Given the description of an element on the screen output the (x, y) to click on. 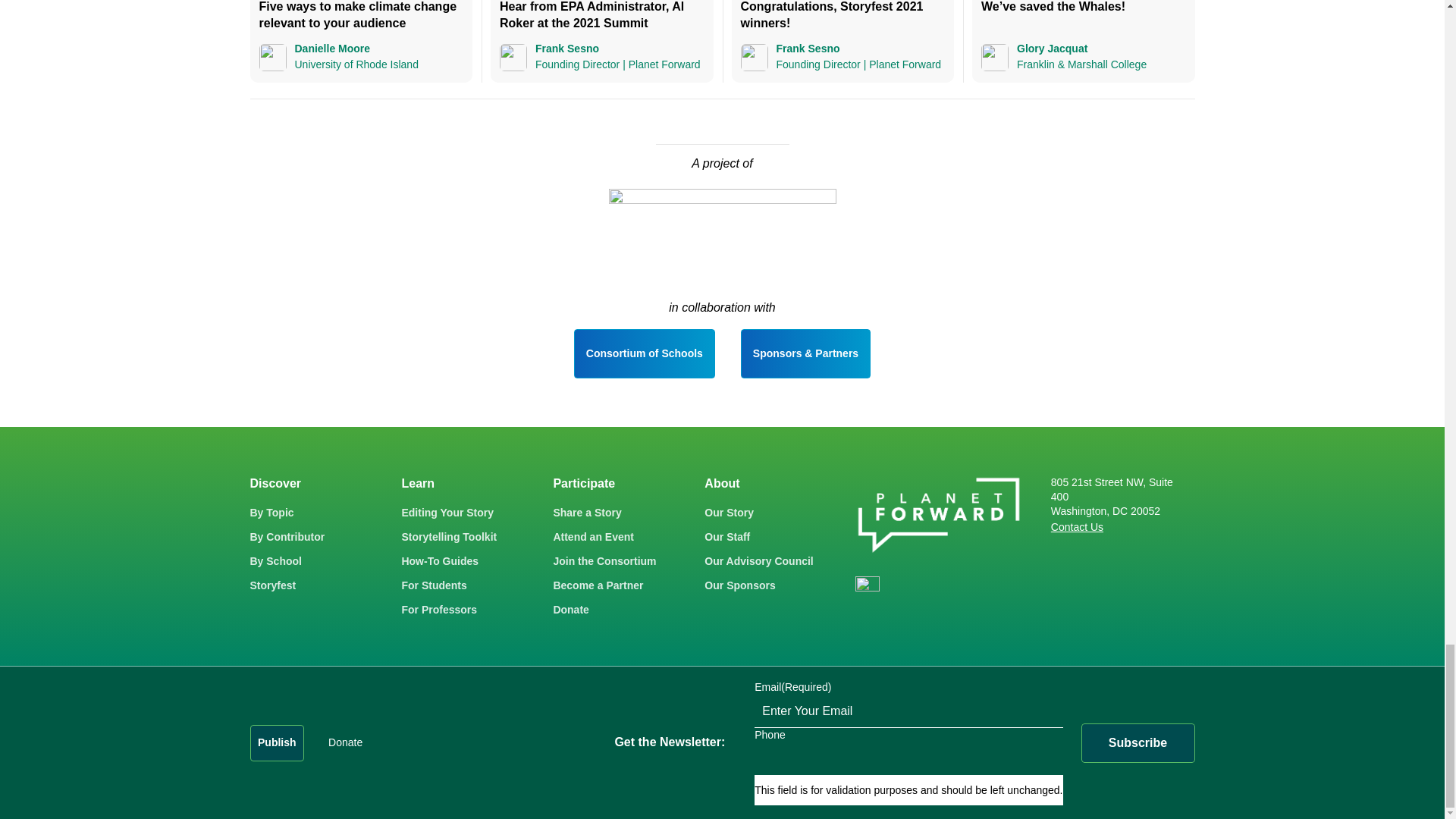
Subscribe (1138, 742)
